Given the description of an element on the screen output the (x, y) to click on. 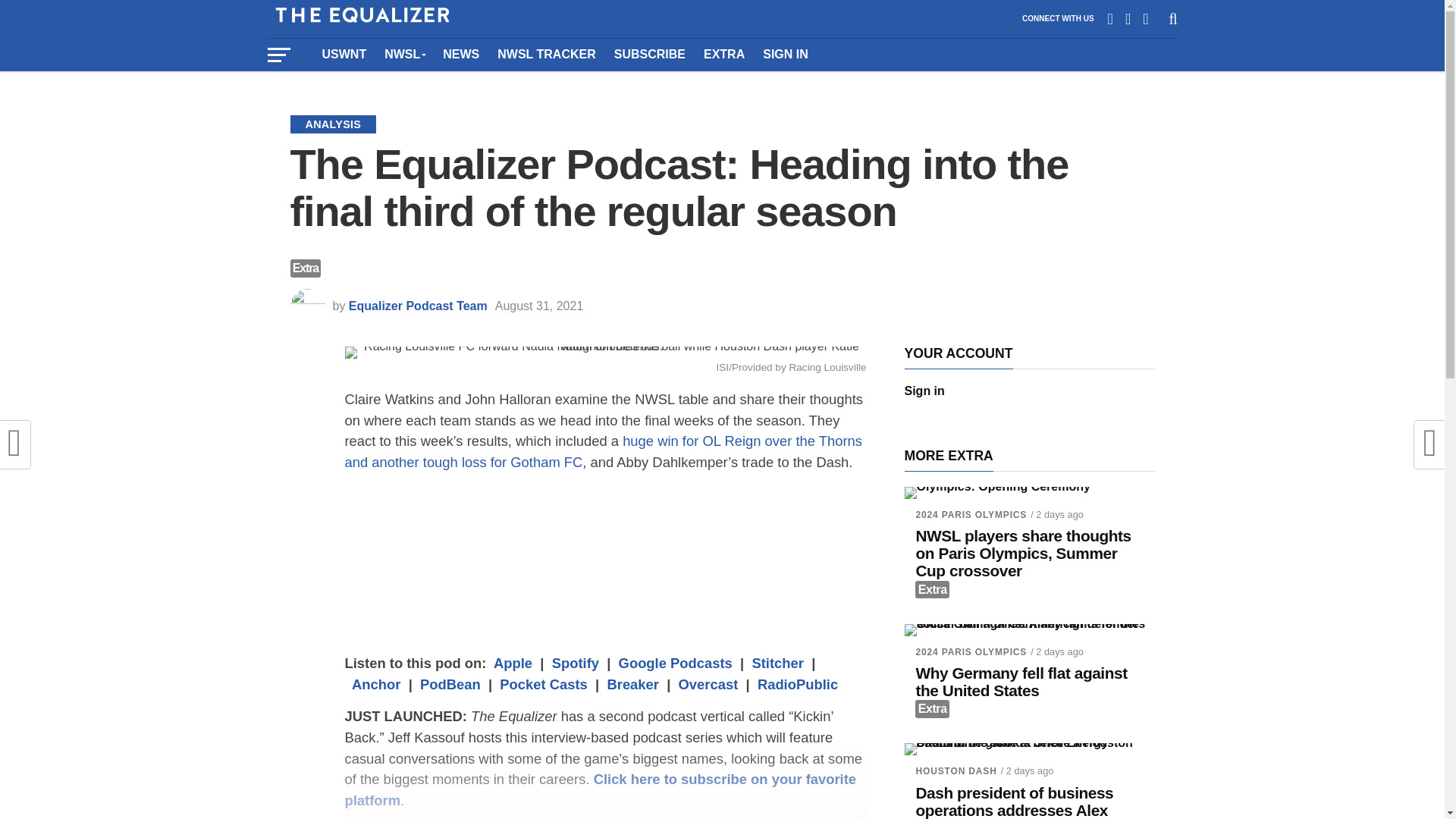
USWNT (344, 54)
Posts by Equalizer Podcast Team (418, 305)
NWSL (404, 54)
